Given the description of an element on the screen output the (x, y) to click on. 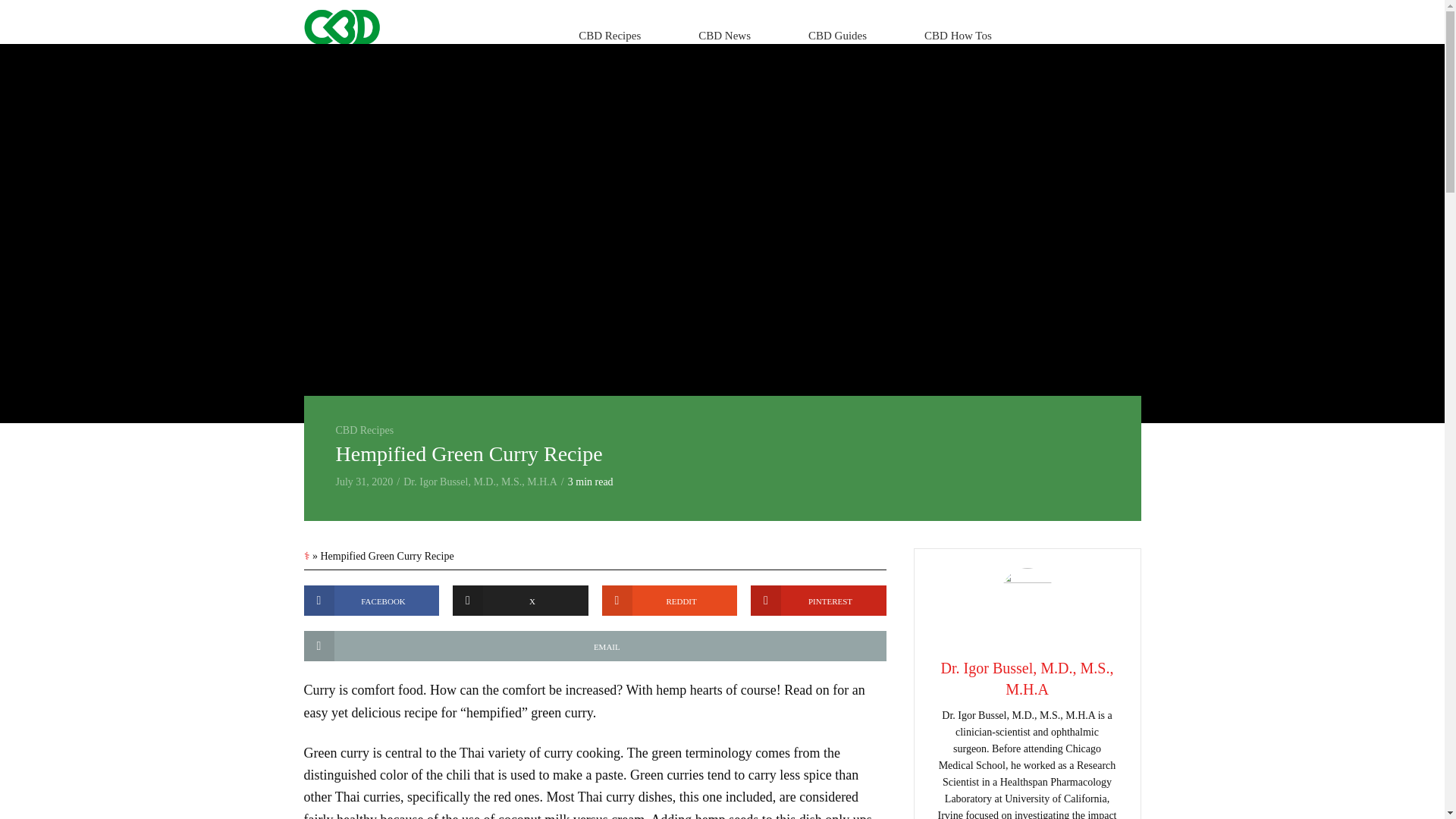
Dr. Igor Bussel, M.D., M.S., M.H.A (480, 481)
EMAIL (593, 645)
CBD Recipes (363, 430)
PINTEREST (818, 600)
FACEBOOK (370, 600)
X (520, 600)
CBD Guides (836, 35)
CBD Recipes (609, 35)
REDDIT (670, 600)
CBD How Tos (957, 35)
